Given the description of an element on the screen output the (x, y) to click on. 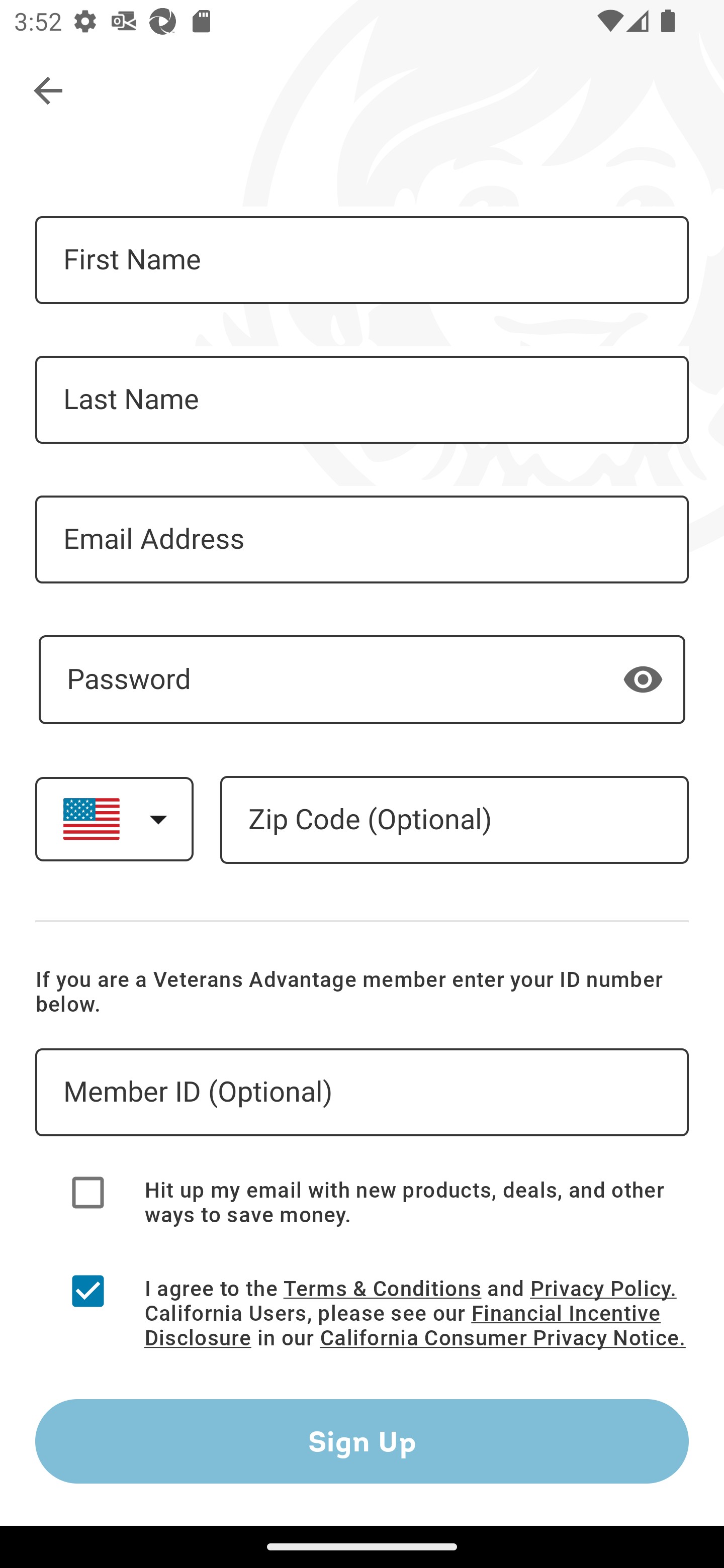
Navigate up (49, 91)
First Name - Required (361, 260)
Last Name - Required (361, 399)
Email Address - Required (361, 539)
- Required (361, 679)
Show password (642, 678)
Zip Code – Optional (454, 819)
Select a country. United States selected. (114, 818)
Veterans Advantage ID – Optional (361, 1092)
Sign Up (361, 1440)
